Given the description of an element on the screen output the (x, y) to click on. 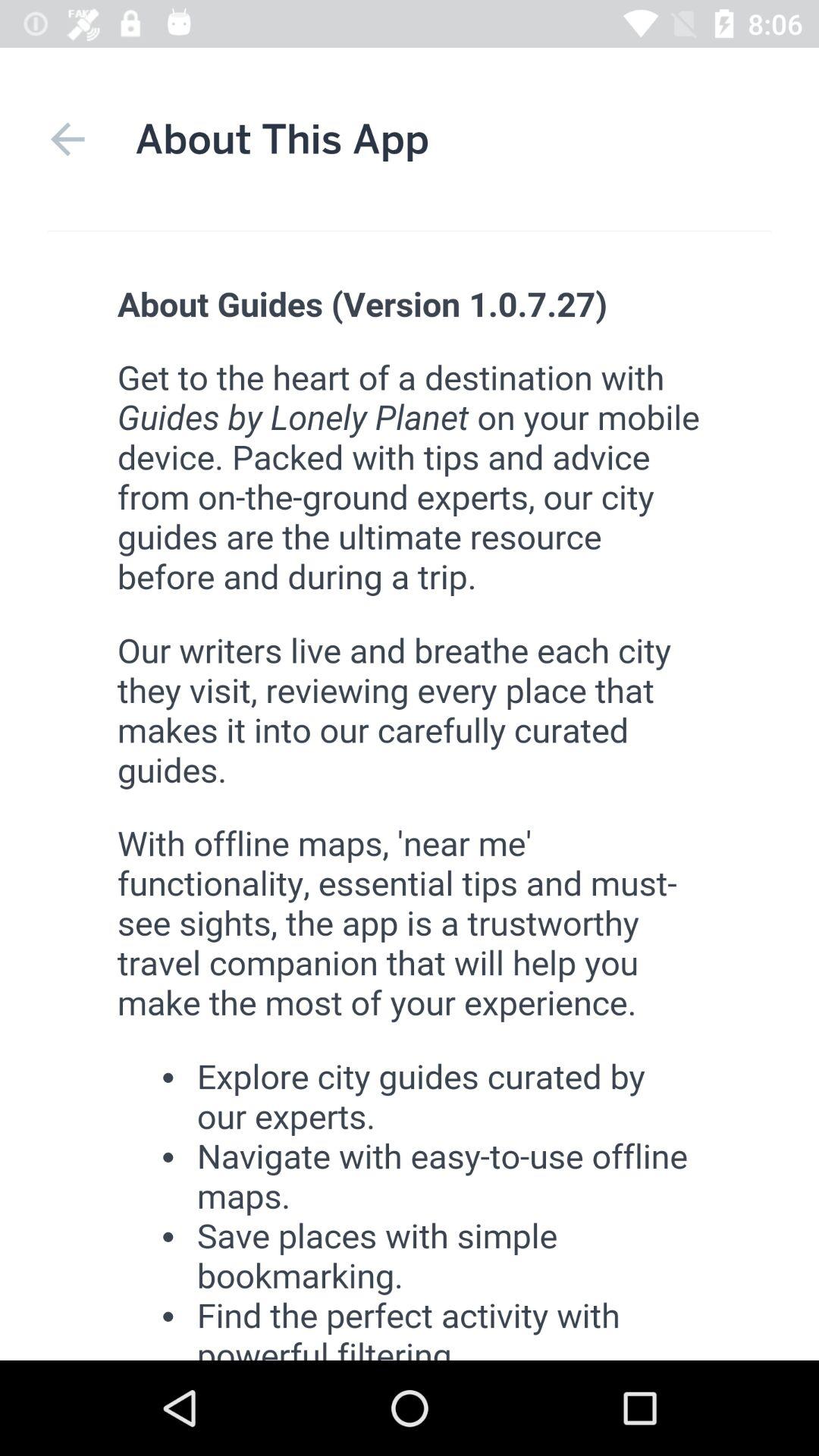
next (67, 139)
